Given the description of an element on the screen output the (x, y) to click on. 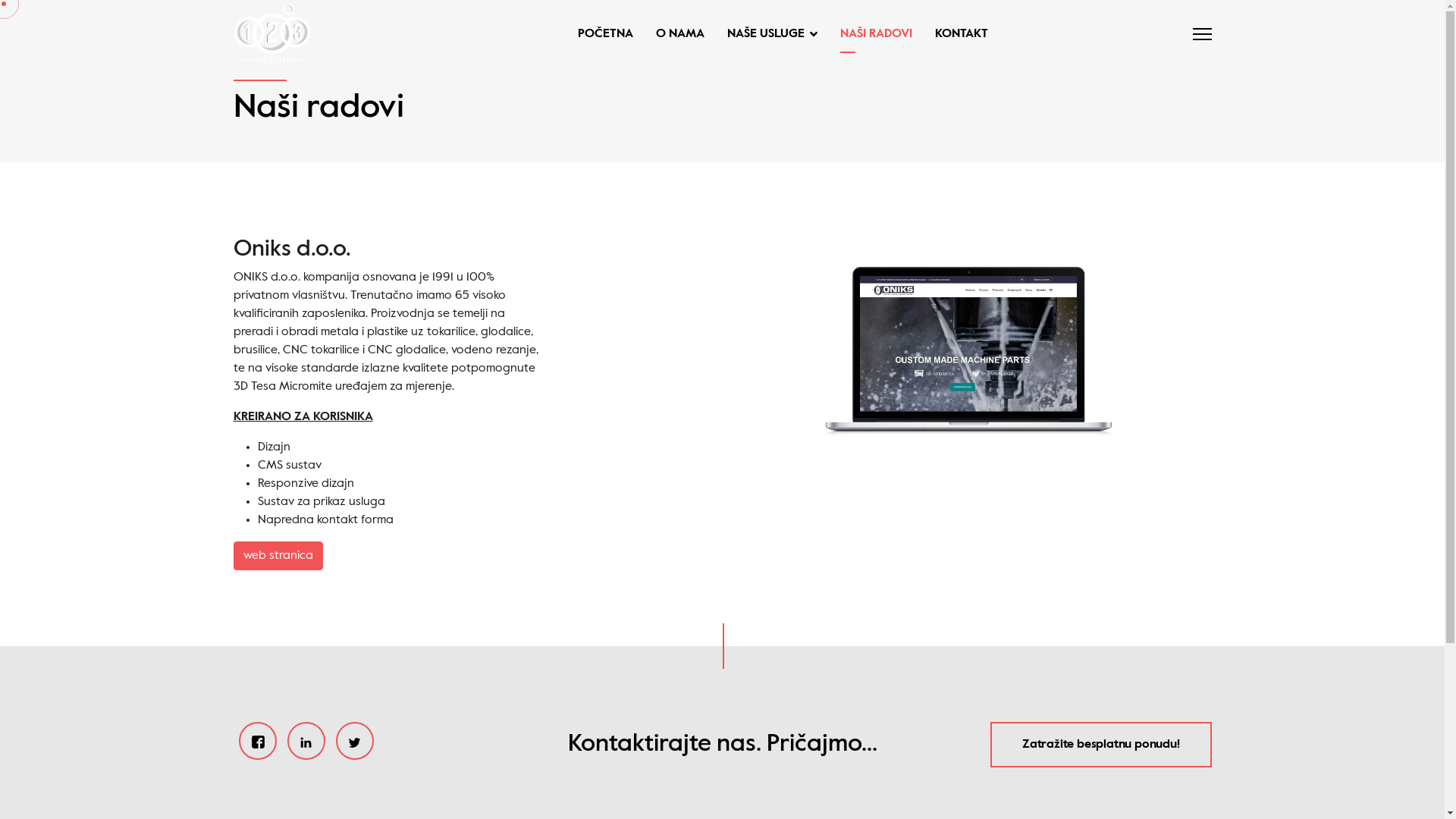
Menu Element type: hover (1201, 34)
O NAMA Element type: text (679, 34)
web stranica Element type: text (278, 555)
KONTAKT Element type: text (955, 34)
